Given the description of an element on the screen output the (x, y) to click on. 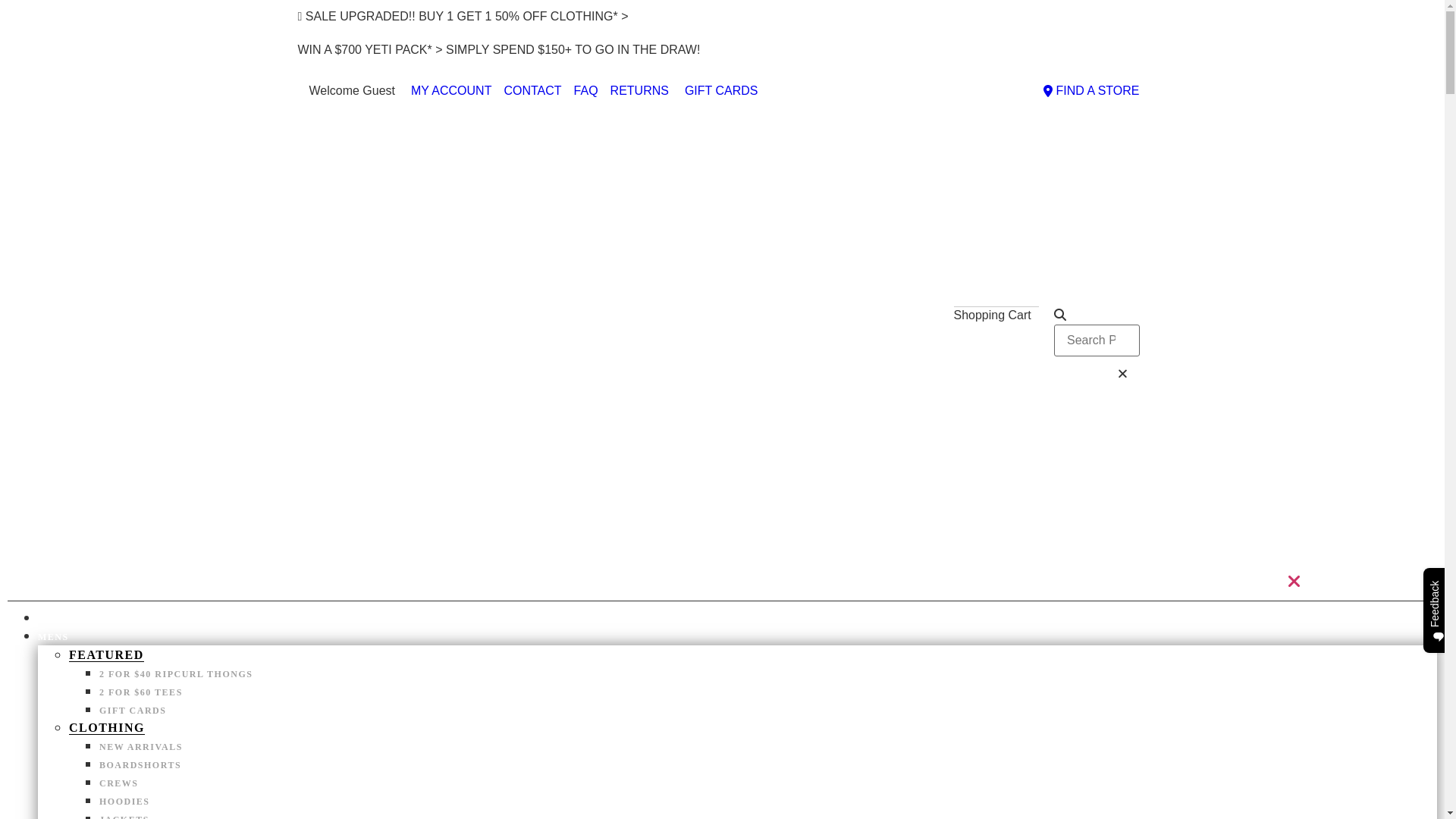
$0.00 0 Element type: text (996, 334)
MENS Element type: text (53, 636)
FEATURED Element type: text (106, 655)
CONTACT Element type: text (532, 90)
NEW ARRIVALS Element type: text (79, 618)
GIFT CARDS Element type: text (132, 710)
2 FOR $40 RIPCURL THONGS Element type: text (175, 673)
CREWS Element type: text (118, 783)
2 FOR $60 TEES Element type: text (140, 692)
FAQ Element type: text (586, 90)
MY ACCOUNT Element type: text (449, 90)
HOODIES Element type: text (124, 801)
CLOTHING Element type: text (106, 727)
FIND A STORE Element type: text (1088, 90)
NEW ARRIVALS Element type: text (140, 746)
RETURNS Element type: text (639, 90)
GIFT CARDS Element type: text (719, 90)
BOARDSHORTS Element type: text (140, 764)
